Given the description of an element on the screen output the (x, y) to click on. 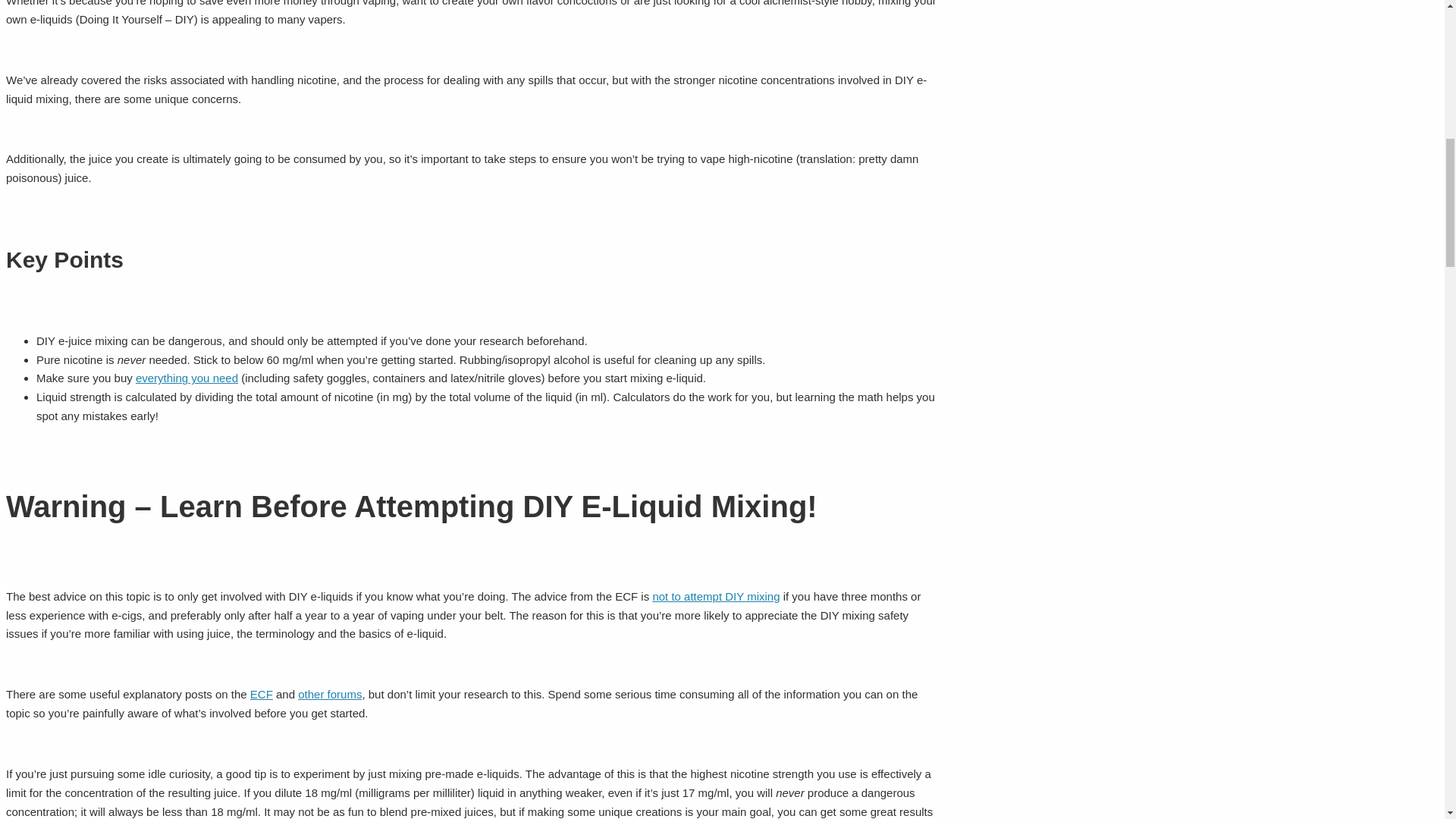
ECF (261, 694)
E-Liquid Mixing 101 (329, 694)
everything you need (186, 377)
not to attempt DIY mixing (715, 595)
other forums (329, 694)
